Given the description of an element on the screen output the (x, y) to click on. 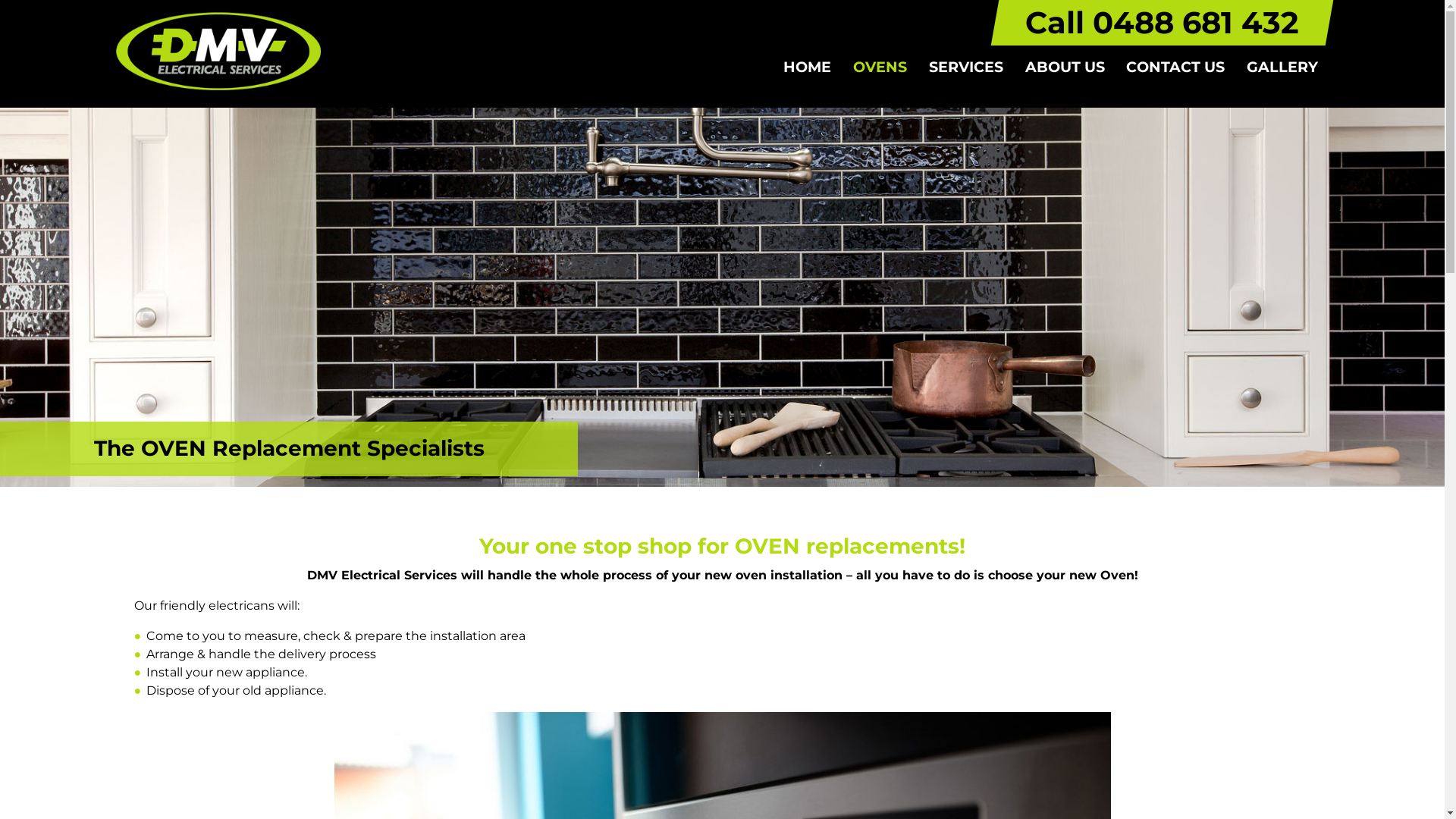
GALLERY Element type: text (1282, 67)
Call 0488 681 432 Element type: text (1161, 28)
CONTACT US Element type: text (1175, 67)
HOME Element type: text (807, 67)
OVENS Element type: text (880, 67)
ABOUT US Element type: text (1064, 67)
SERVICES Element type: text (965, 67)
DMV Electrical Services Element type: hover (217, 51)
